Given the description of an element on the screen output the (x, y) to click on. 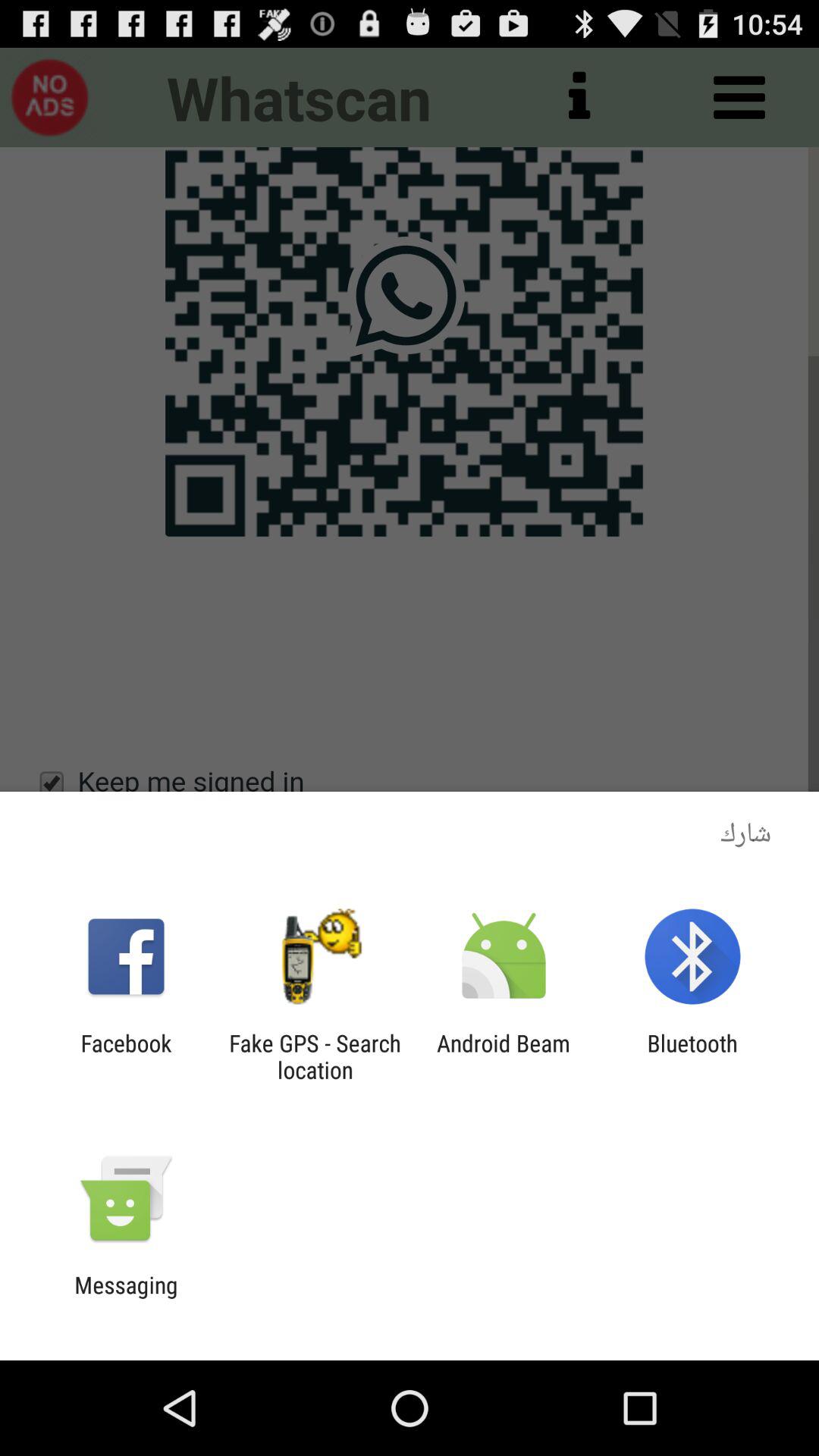
select app next to the fake gps search (503, 1056)
